Given the description of an element on the screen output the (x, y) to click on. 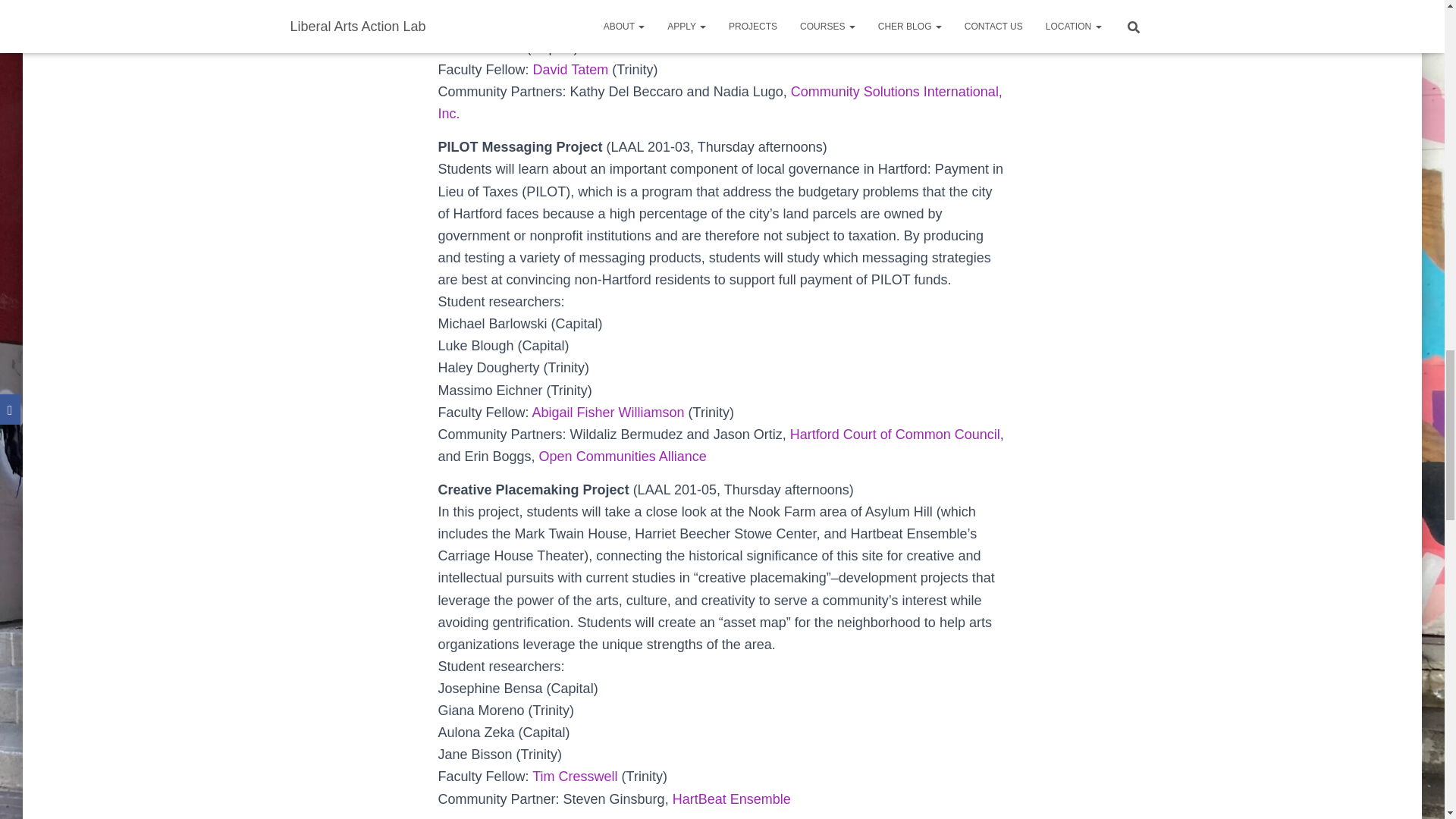
Hartford Court of Common Council (895, 434)
David Tatem (570, 69)
Abigail Fisher Williamson (608, 412)
HartBeat Ensemble (731, 798)
Community Solutions International, Inc. (720, 102)
Open Communities Alliance (622, 456)
Tim Cresswell (574, 776)
